Given the description of an element on the screen output the (x, y) to click on. 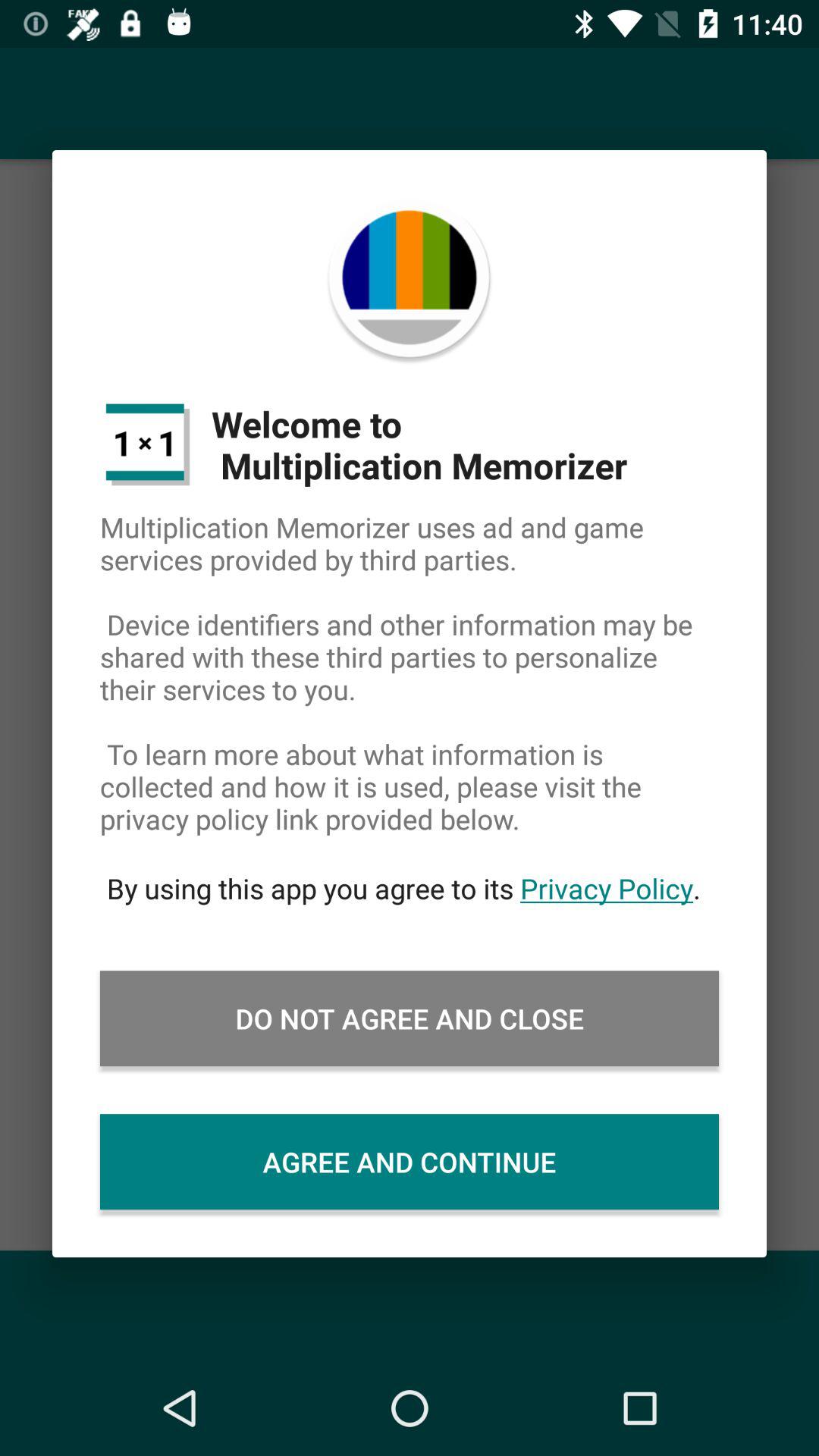
open the icon below multiplication memorizer uses (409, 888)
